Given the description of an element on the screen output the (x, y) to click on. 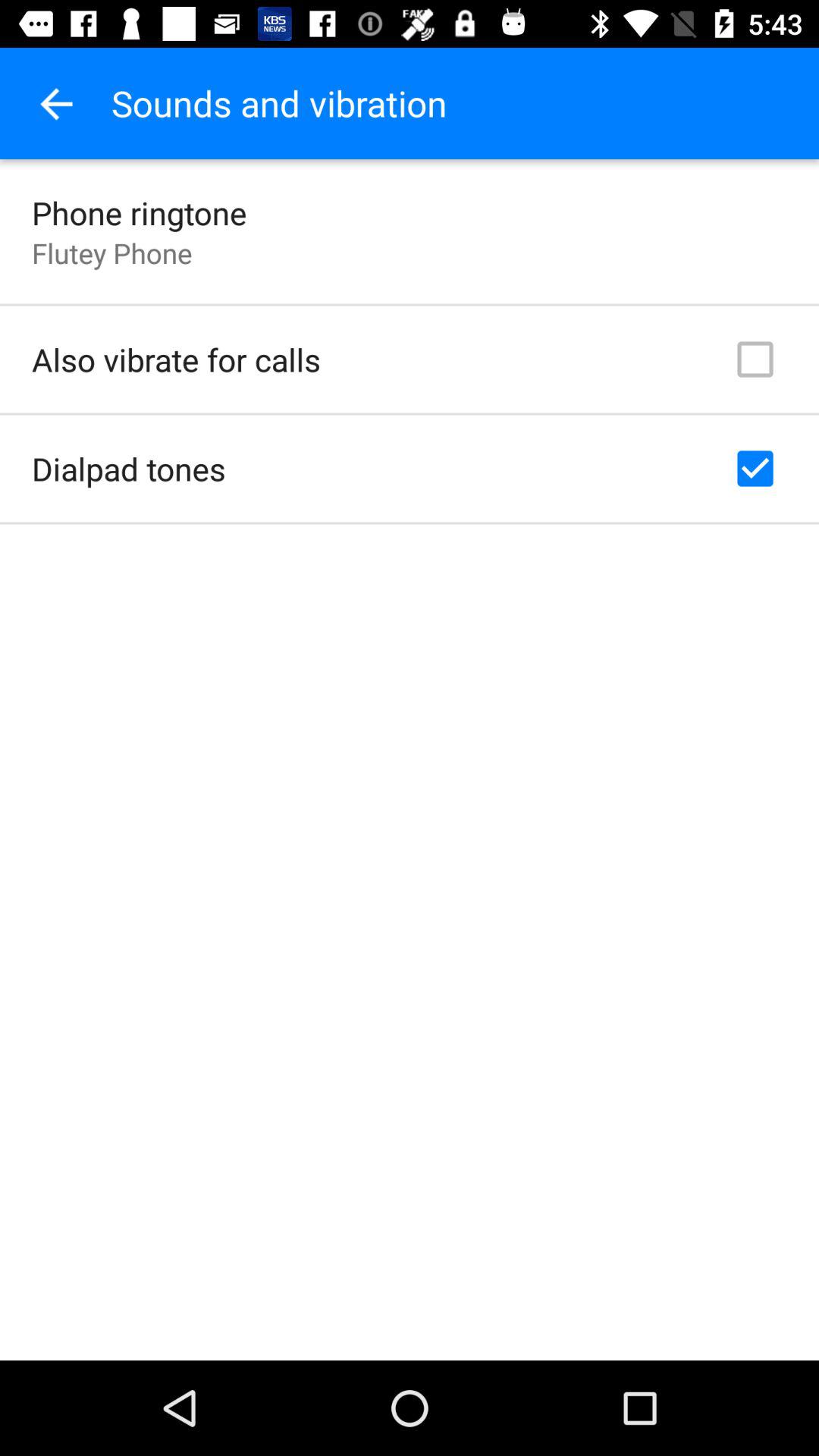
tap flutey phone (111, 252)
